Given the description of an element on the screen output the (x, y) to click on. 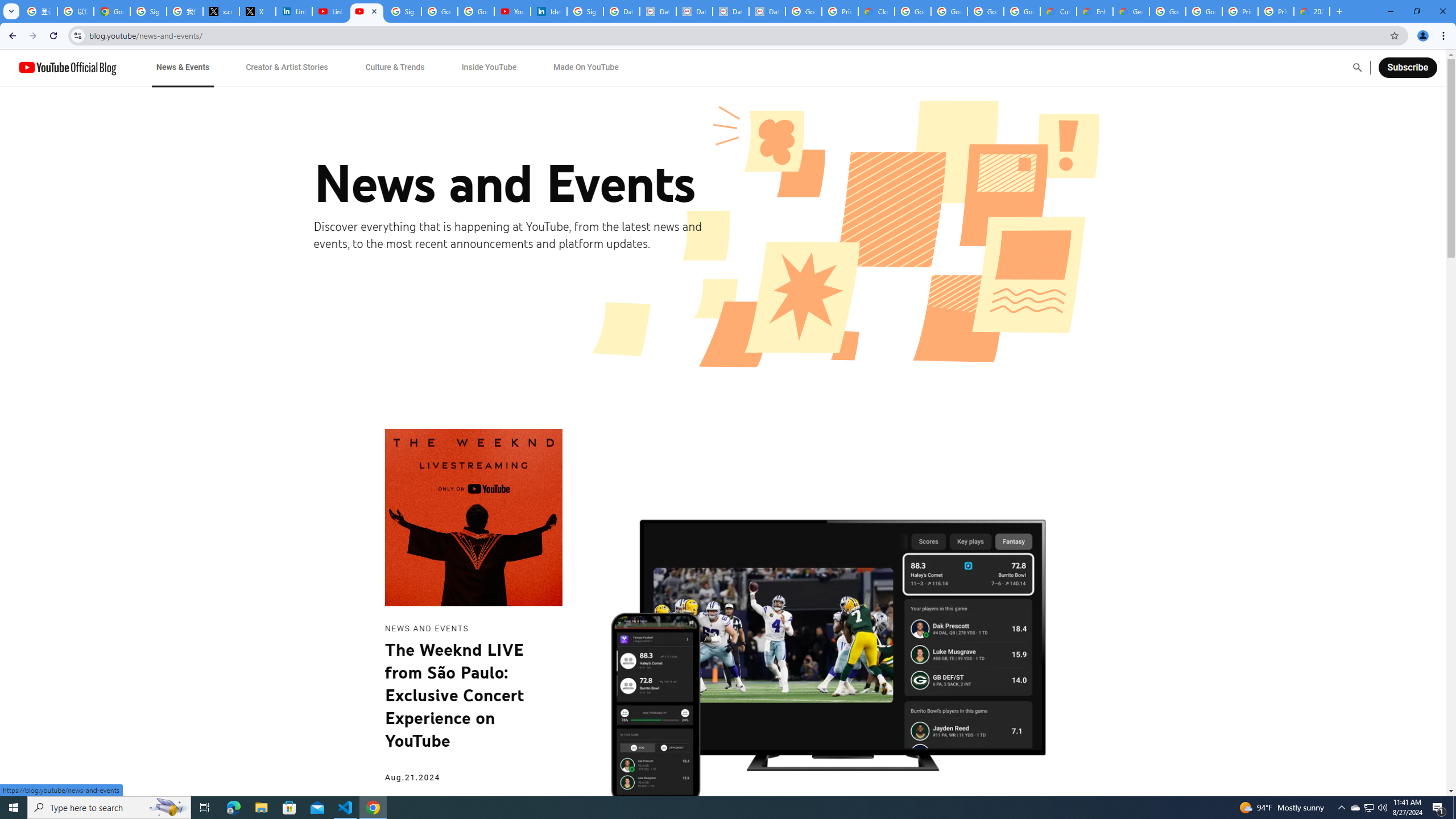
Google Cloud Platform (1203, 11)
Data Privacy Framework (694, 11)
Google Cloud Platform (1167, 11)
Google Workspace - Specific Terms (985, 11)
Culture & Trends (395, 67)
Data Privacy Framework (767, 11)
